Given the description of an element on the screen output the (x, y) to click on. 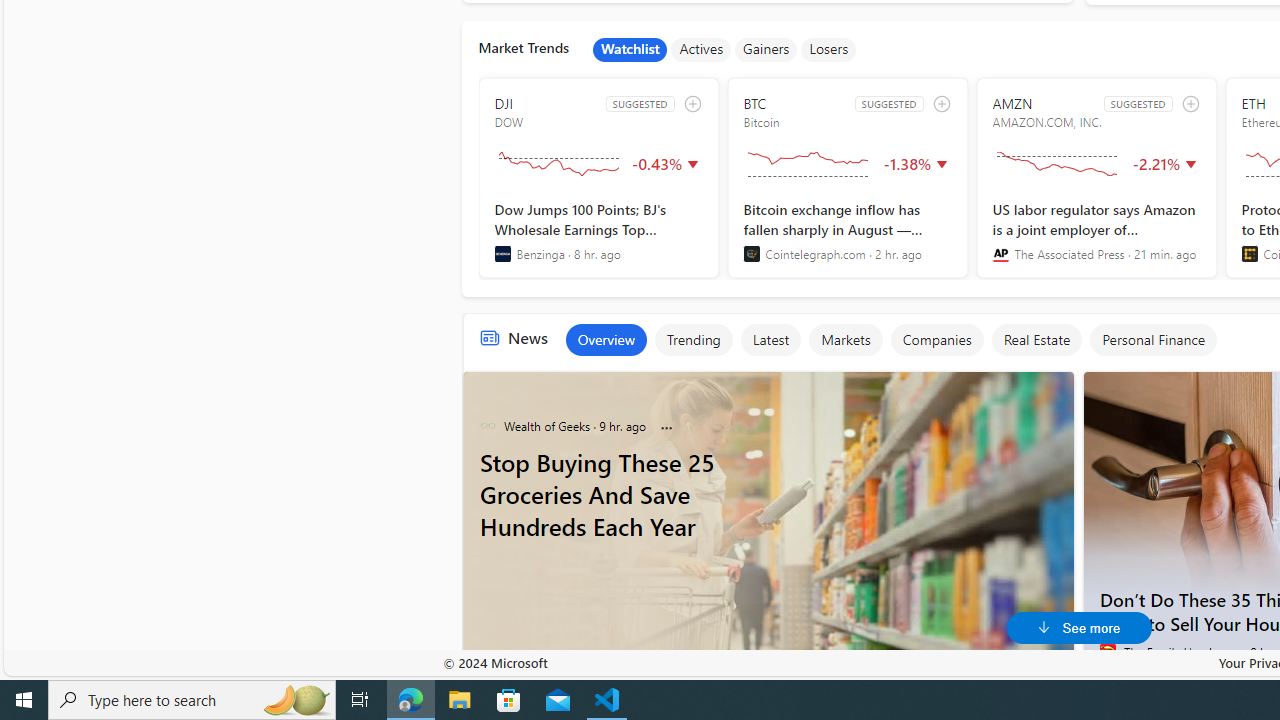
Watchlist (630, 49)
BTC SUGGESTED Bitcoin (847, 178)
Actives (701, 49)
Markets (845, 339)
Wealth of Geeks (487, 426)
Personal Finance (1153, 339)
DJI SUGGESTED DOW (598, 178)
Overview (605, 339)
Benzinga (502, 254)
Companies (936, 339)
